Given the description of an element on the screen output the (x, y) to click on. 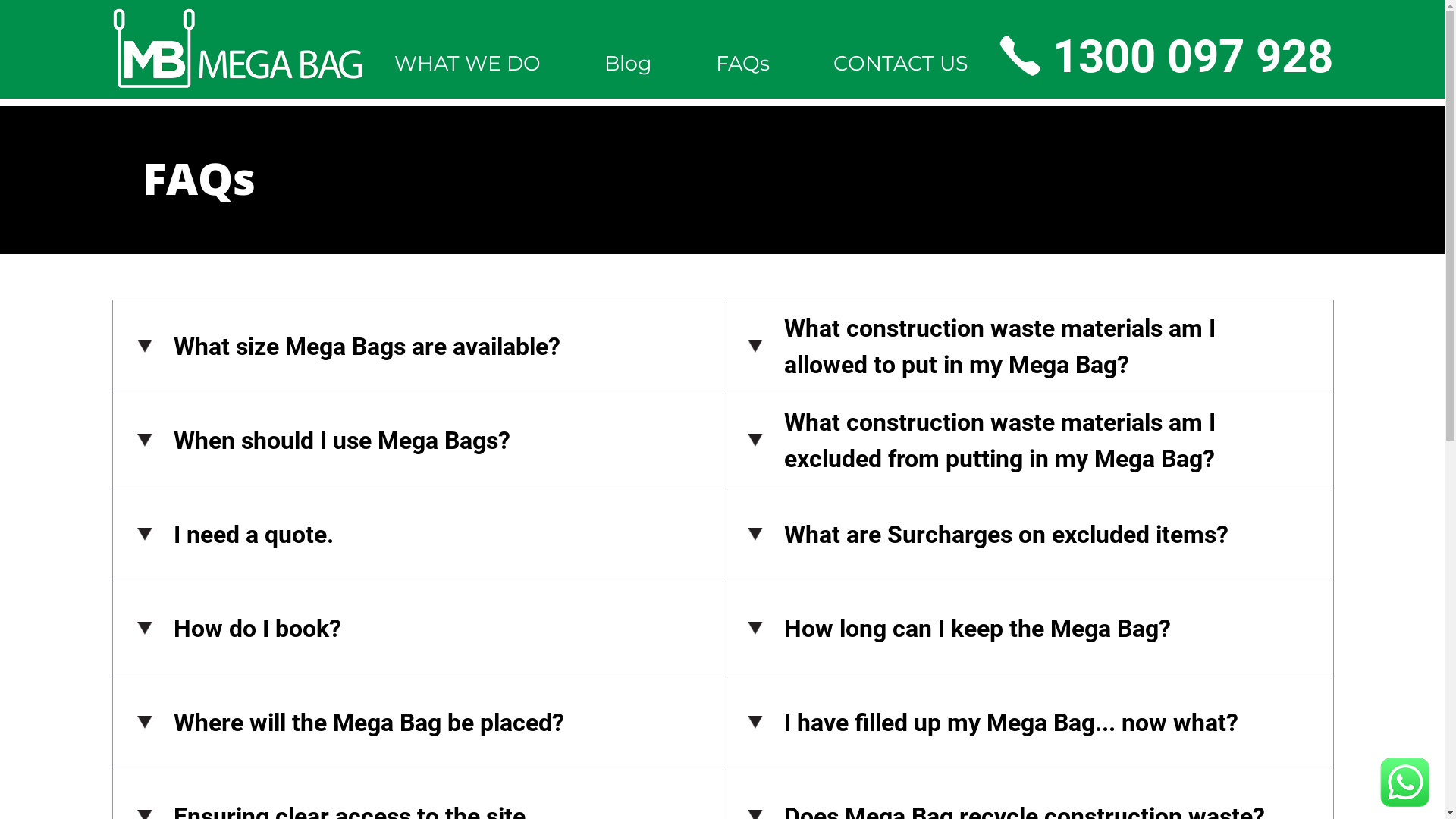
Blog Element type: text (627, 62)
I have filled up my Mega Bag... now what? Element type: text (1027, 722)
When should I use Mega Bags? Element type: text (417, 440)
What are Surcharges on excluded items? Element type: text (1027, 534)
I need a quote. Element type: text (417, 534)
1300 097 928 Element type: text (1166, 56)
CONTACT US Element type: text (900, 62)
Where will the Mega Bag be placed? Element type: text (417, 722)
How long can I keep the Mega Bag? Element type: text (1027, 628)
How do I book? Element type: text (417, 628)
WHAT WE DO Element type: text (467, 62)
What size Mega Bags are available? Element type: text (417, 346)
FAQs Element type: text (742, 62)
